Given the description of an element on the screen output the (x, y) to click on. 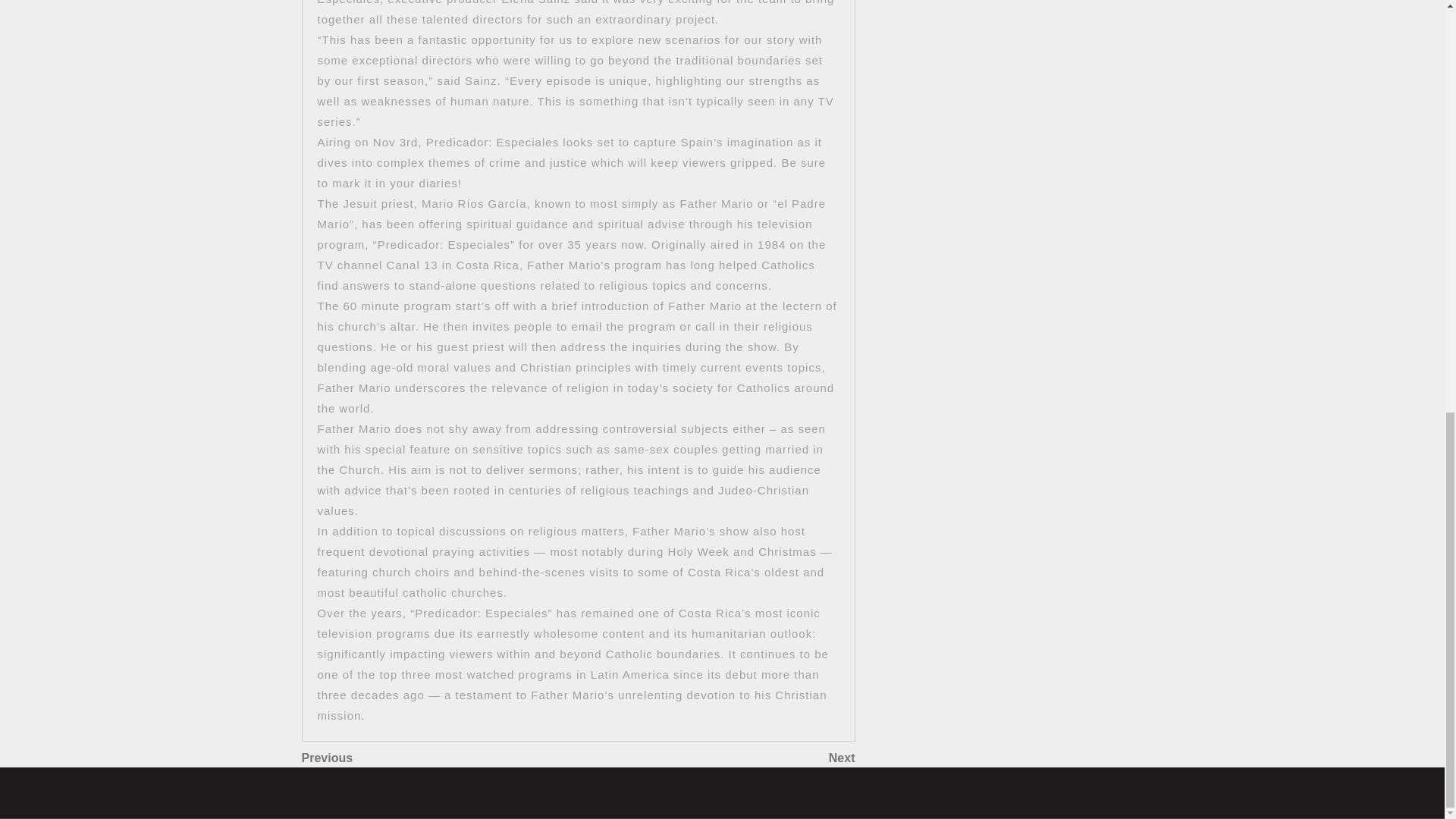
TOP (439, 758)
